Given the description of an element on the screen output the (x, y) to click on. 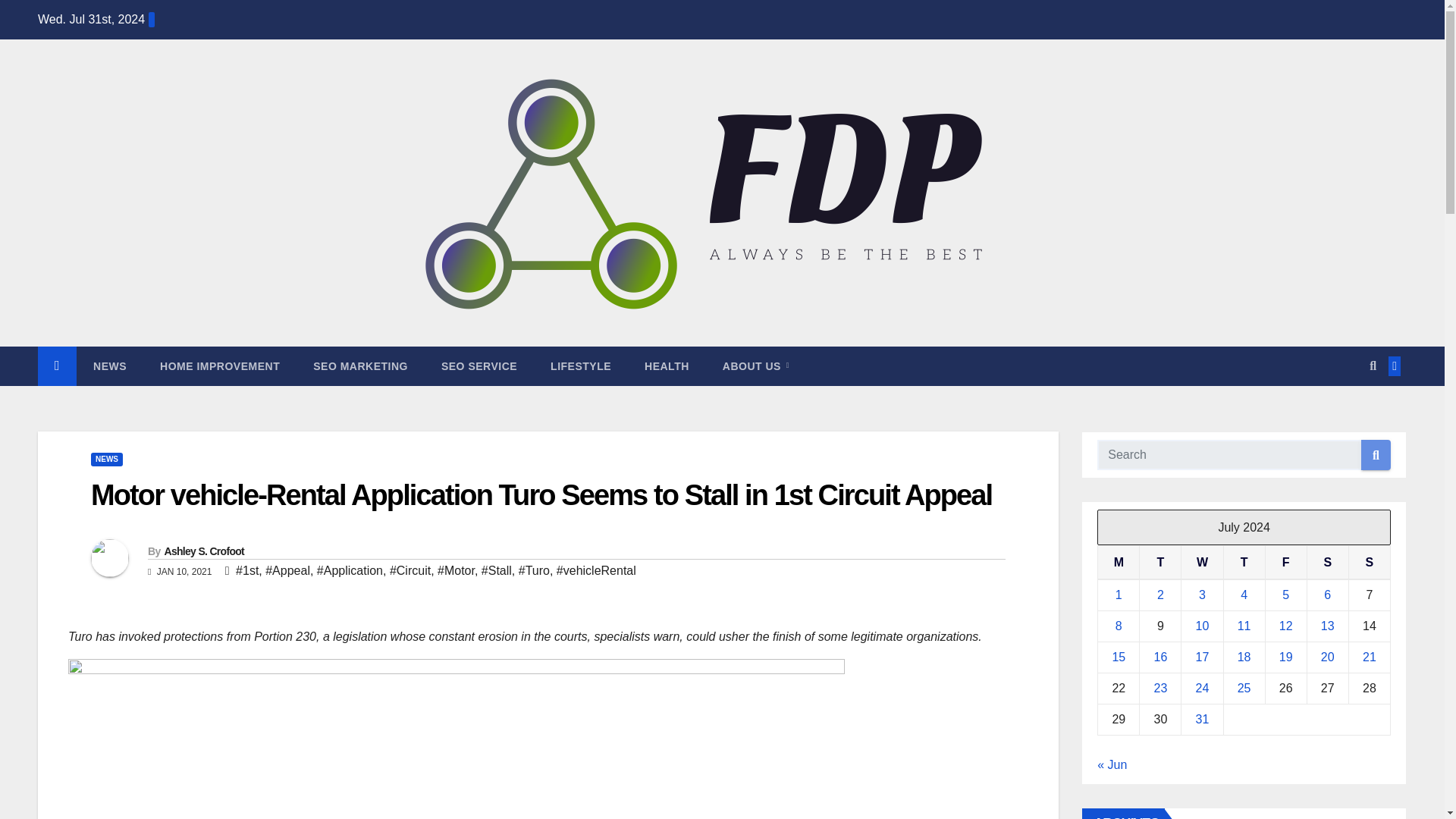
LIFESTYLE (580, 365)
NEWS (109, 365)
NEWS (106, 459)
Home Improvement (219, 365)
SEO MARKETING (361, 365)
ABOUT US (756, 365)
Ashley S. Crofoot (203, 551)
HOME IMPROVEMENT (219, 365)
About Us (756, 365)
Health (666, 365)
SEO Service (479, 365)
HEALTH (666, 365)
SEO SERVICE (479, 365)
